Given the description of an element on the screen output the (x, y) to click on. 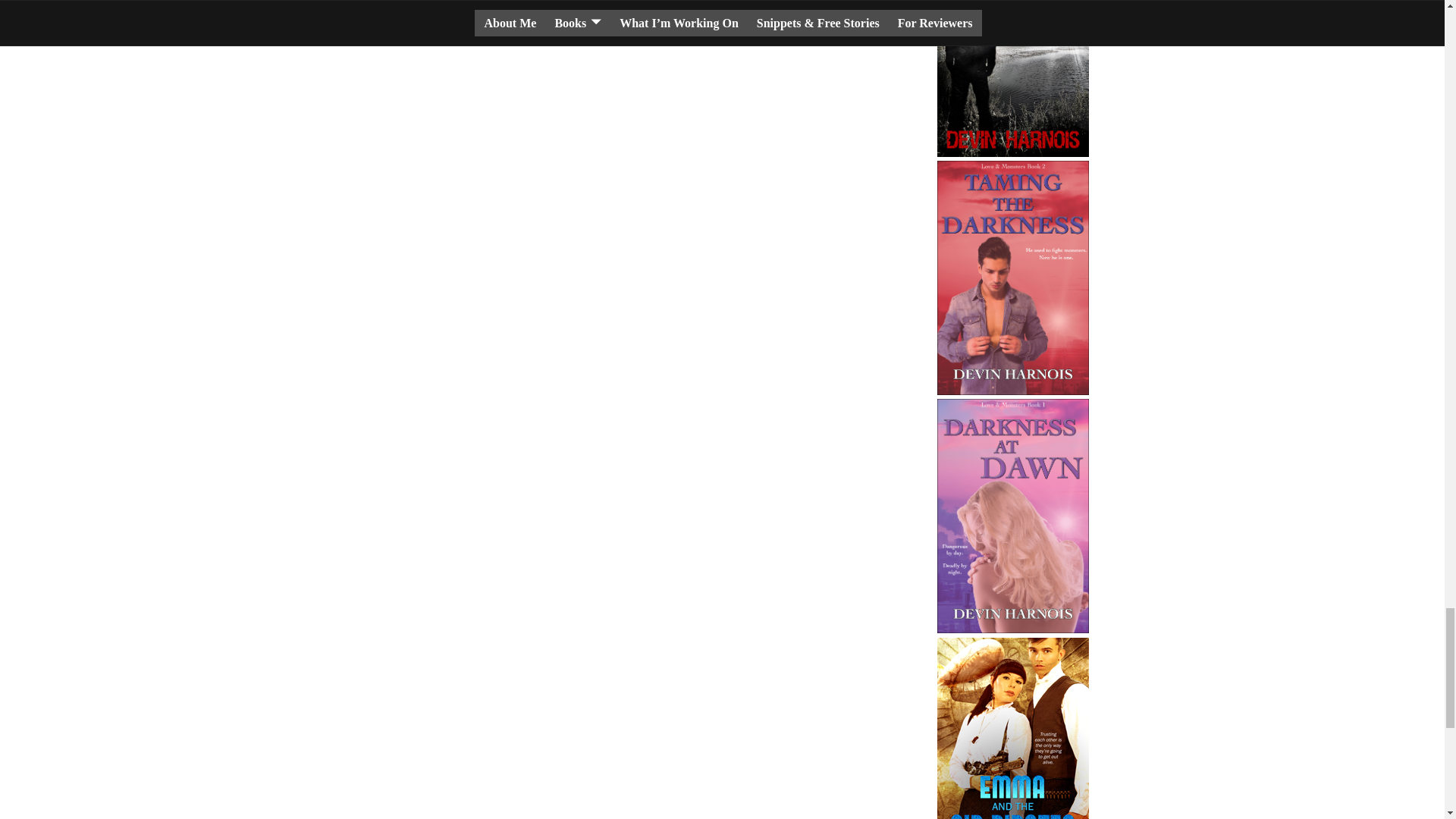
Not My Apocalypse (1013, 78)
